Given the description of an element on the screen output the (x, y) to click on. 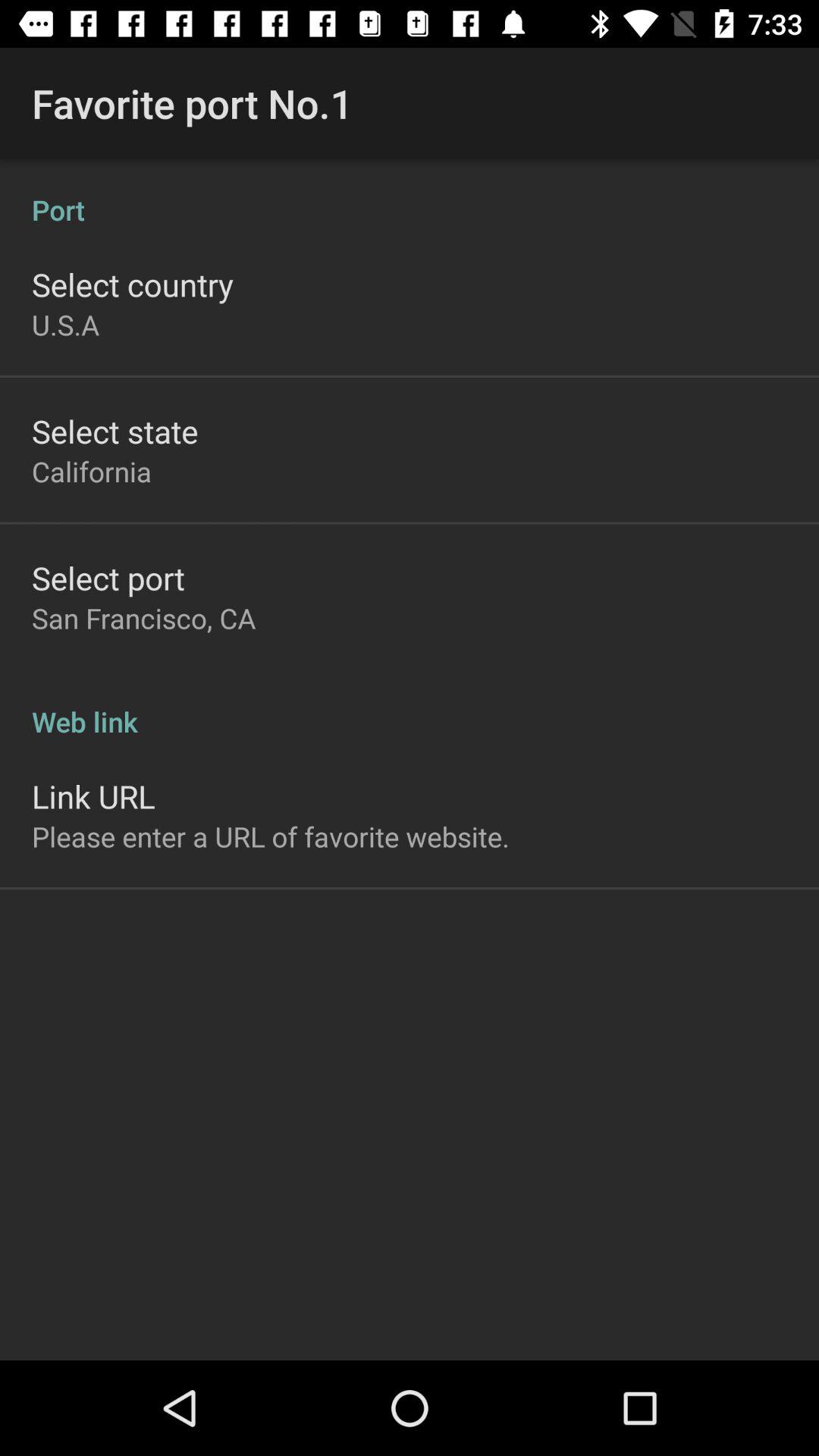
press san francisco, ca app (143, 618)
